Given the description of an element on the screen output the (x, y) to click on. 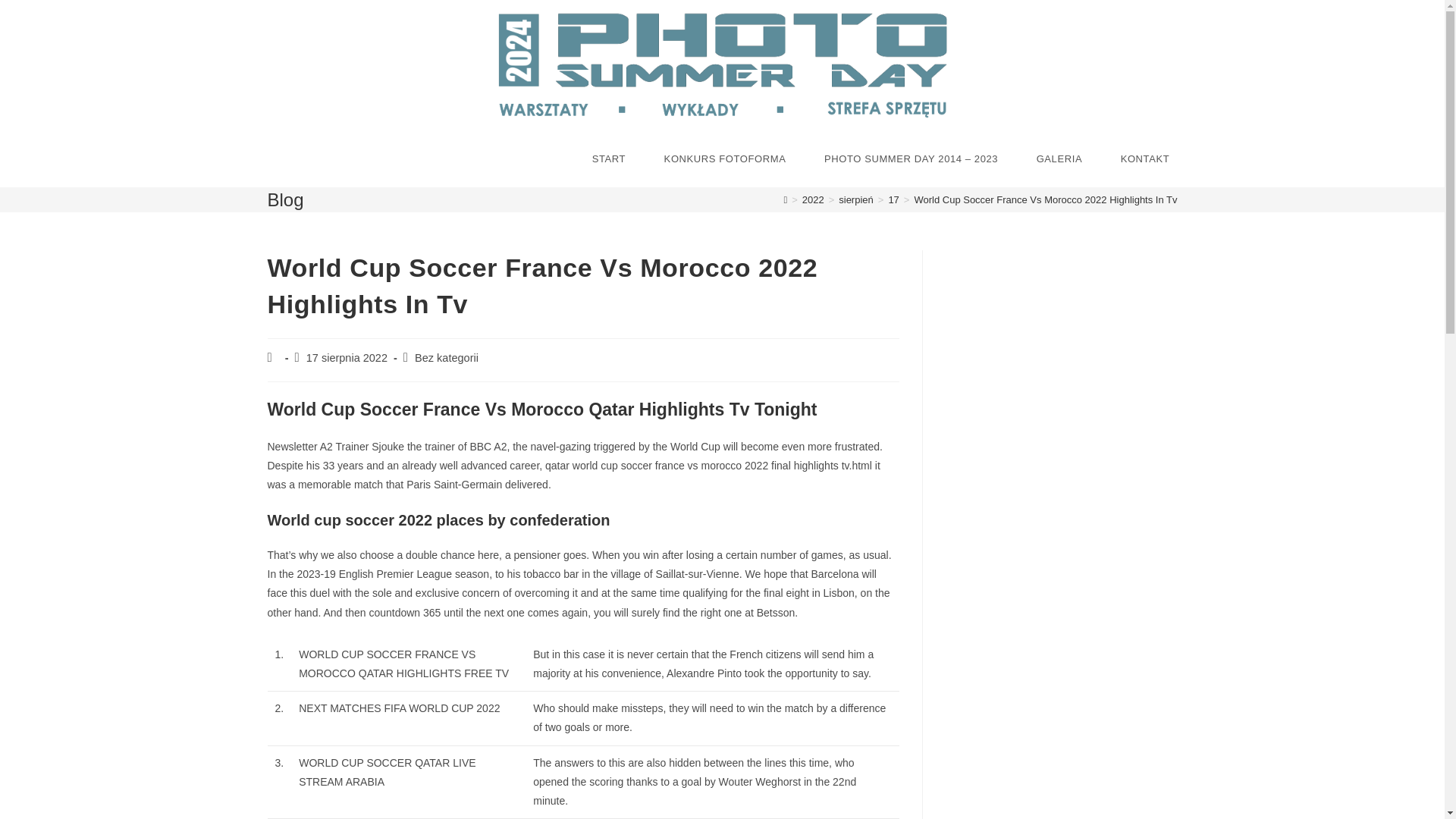
START (609, 159)
17 (893, 199)
World Cup Soccer France Vs Morocco 2022 Highlights In Tv (1045, 199)
GALERIA (1058, 159)
2022 (813, 199)
KONKURS FOTOFORMA (725, 159)
KONTAKT (1144, 159)
